Given the description of an element on the screen output the (x, y) to click on. 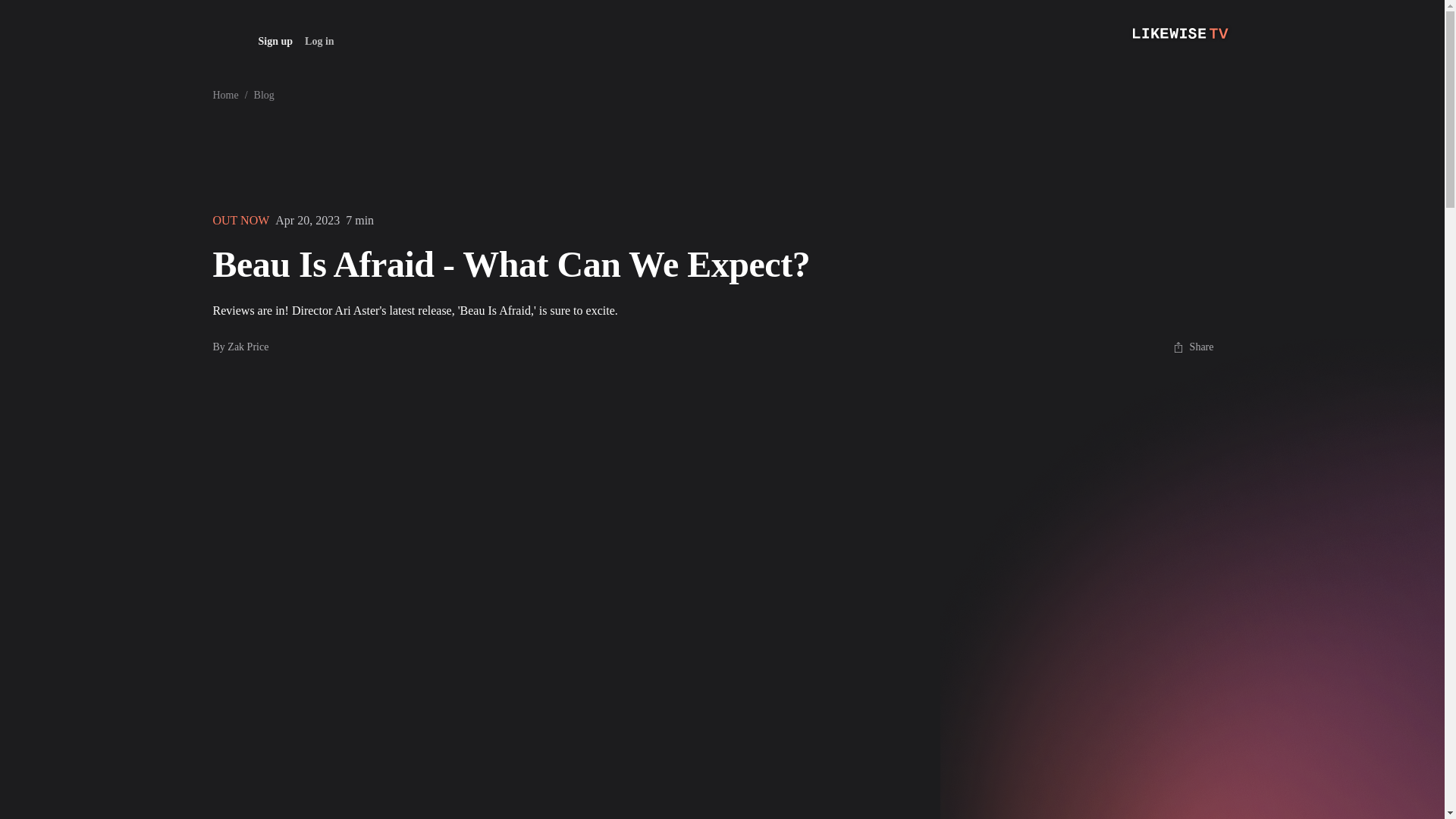
Blog (264, 95)
Share (1192, 347)
OUT NOW (240, 219)
Home (225, 95)
